Given the description of an element on the screen output the (x, y) to click on. 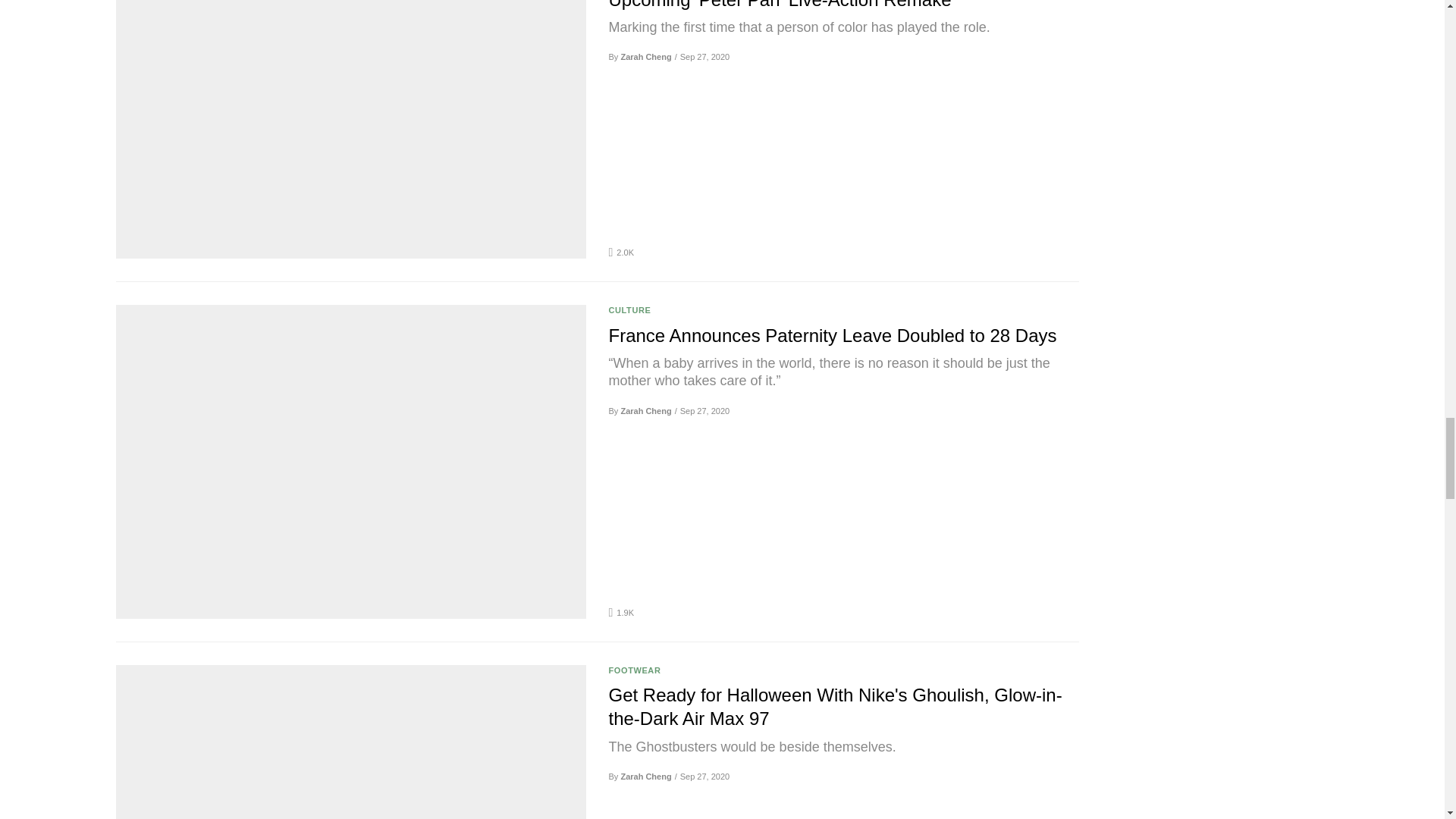
France Announces Paternity Leave Doubled to 28 Days (843, 335)
Culture (629, 309)
Footwear (634, 670)
